Given the description of an element on the screen output the (x, y) to click on. 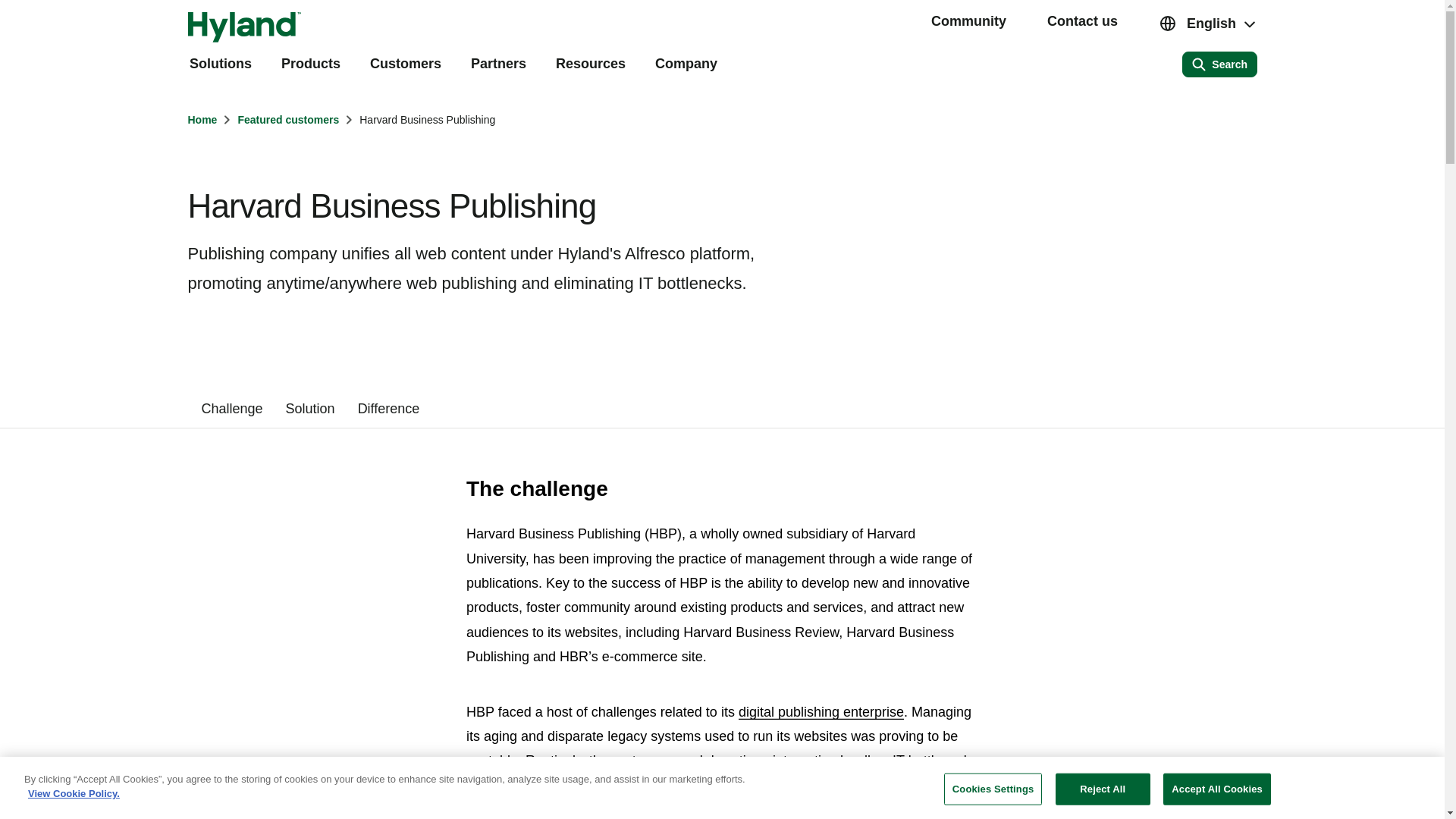
Community (968, 20)
Solutions (220, 65)
Skip to content (17, 8)
Contact us (1082, 20)
English (1207, 23)
